Given the description of an element on the screen output the (x, y) to click on. 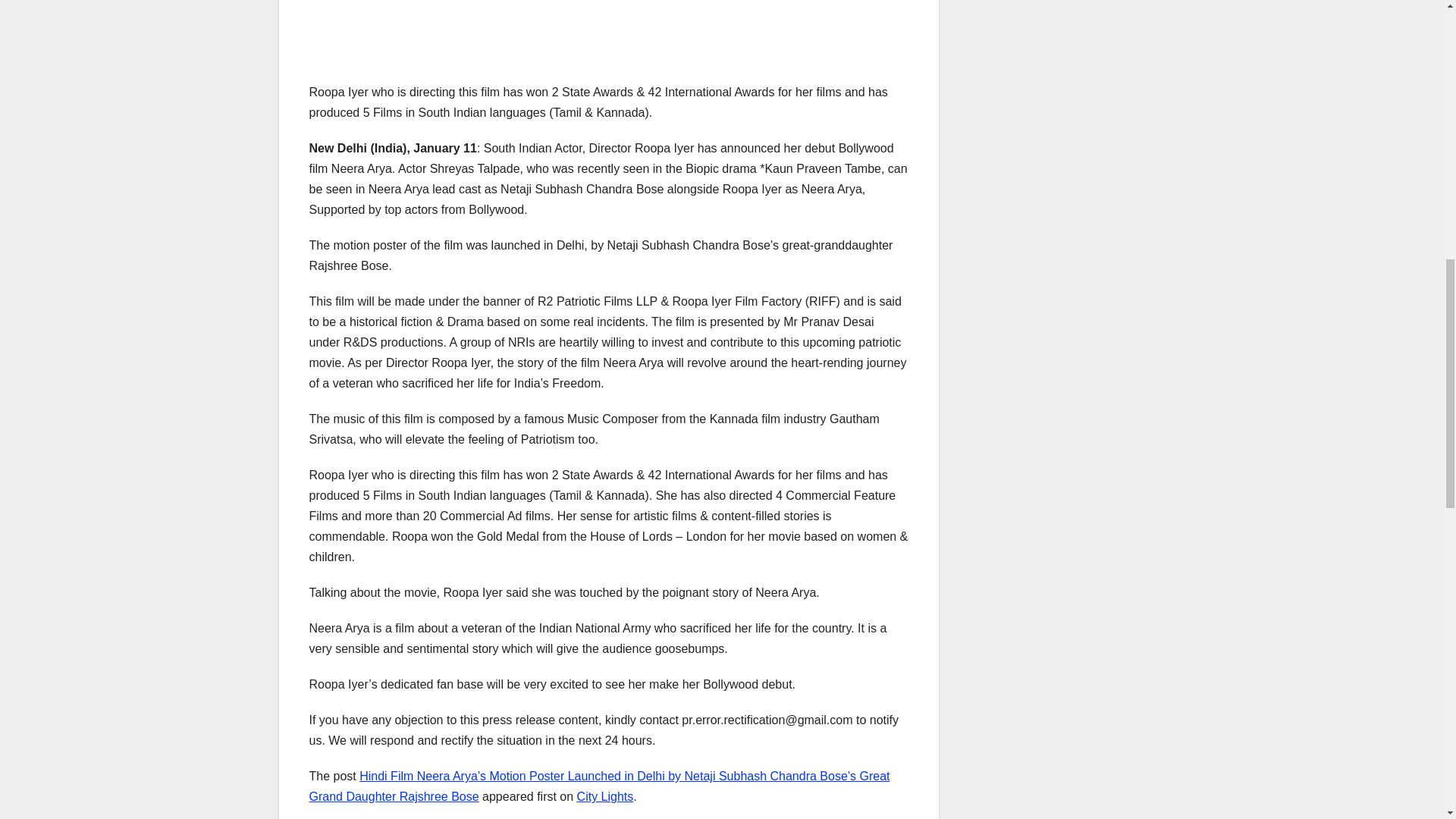
City Lights (604, 796)
